Given the description of an element on the screen output the (x, y) to click on. 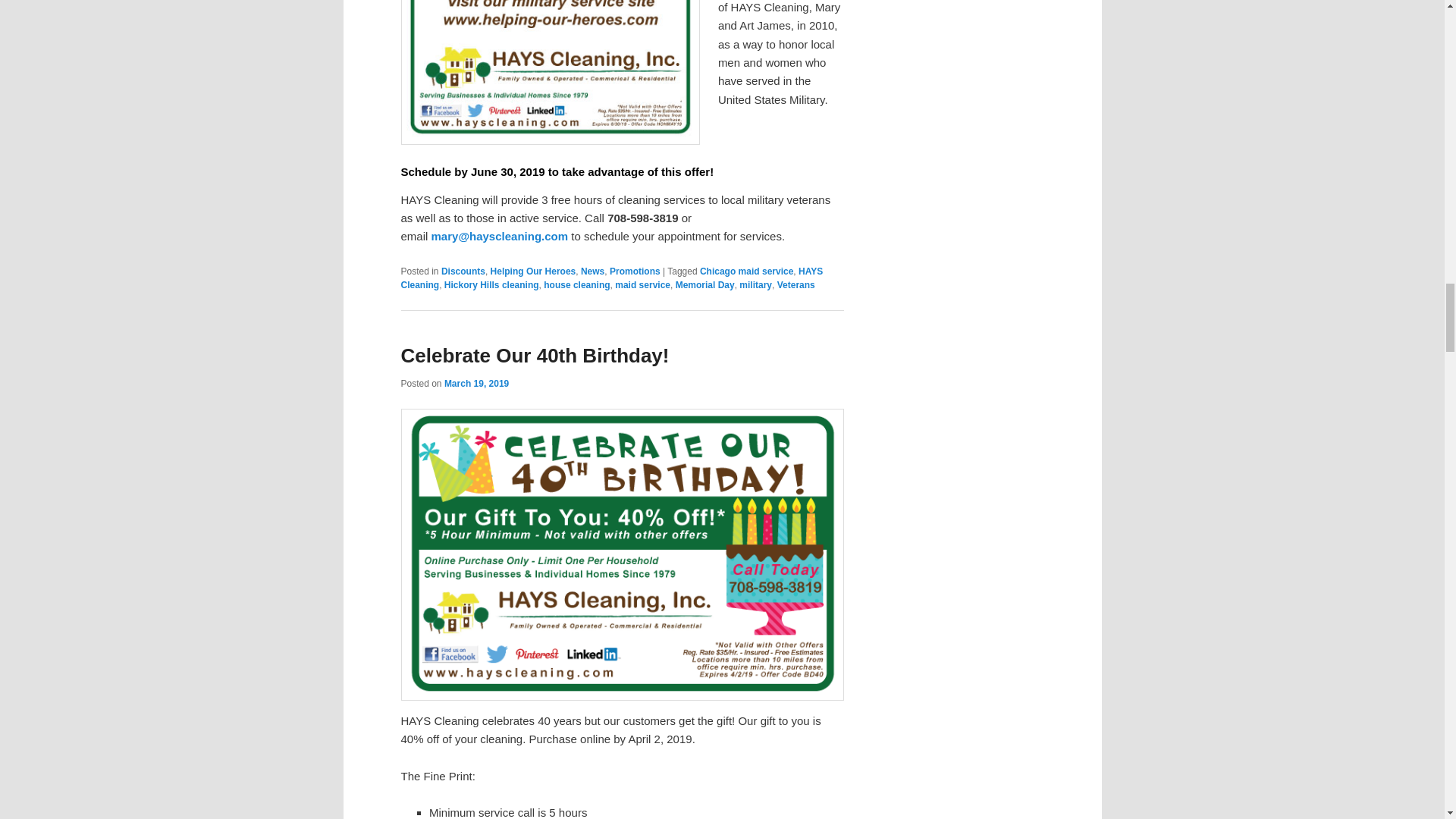
6:32 am (476, 383)
